Given the description of an element on the screen output the (x, y) to click on. 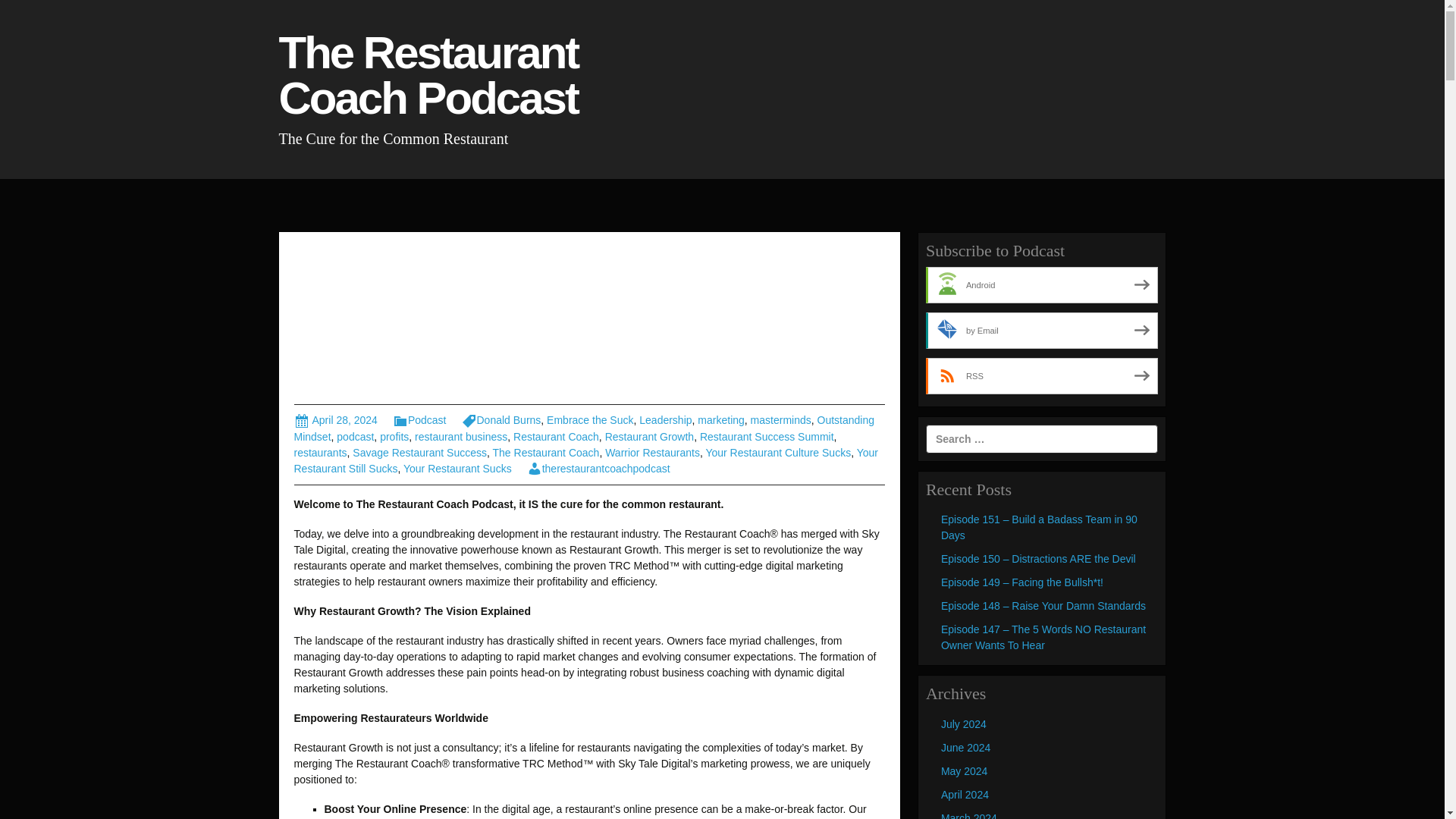
The Restaurant Coach (546, 452)
Restaurant Growth (649, 436)
View all posts by therestaurantcoachpodcast (598, 468)
podcast (355, 436)
Restaurant Success Summit (767, 436)
Warrior Restaurants (652, 452)
profits (394, 436)
Embrace the Suck (590, 419)
The Restaurant Coach Podcast (435, 81)
Podcast (419, 419)
restaurants (320, 452)
restaurant business (460, 436)
Your Restaurant Still Sucks (585, 460)
